Given the description of an element on the screen output the (x, y) to click on. 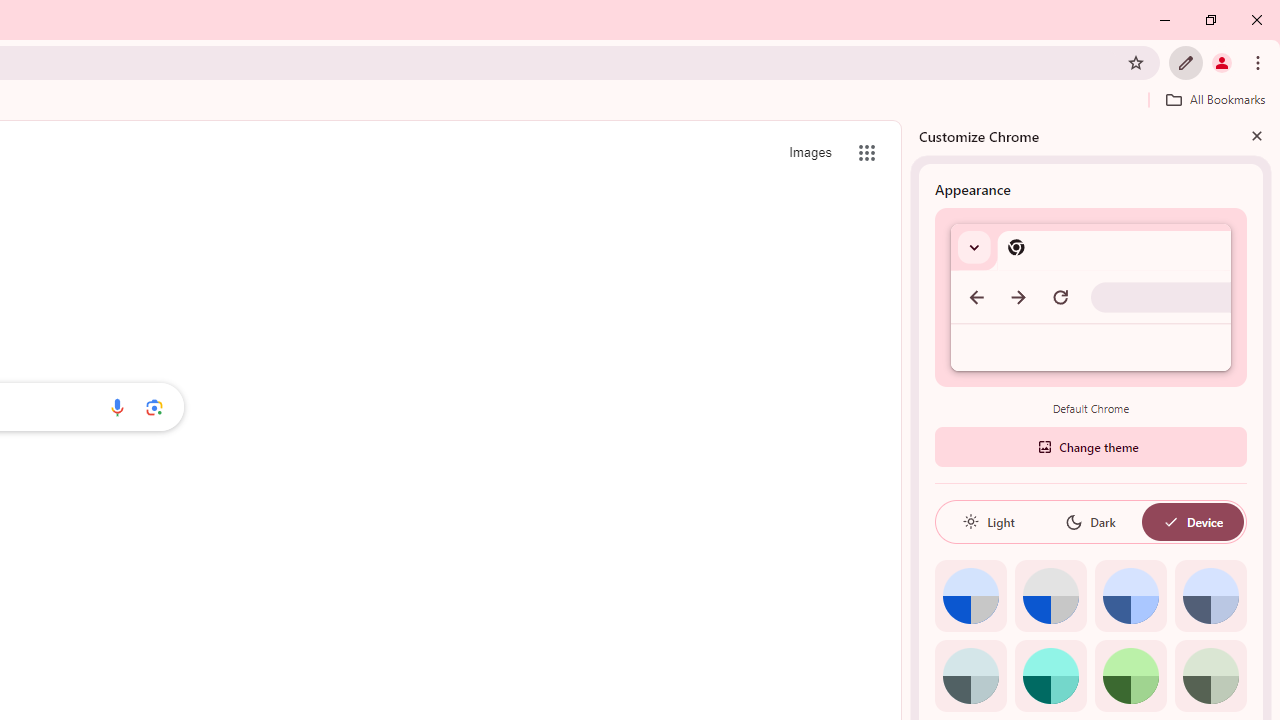
Green (1130, 676)
Dark (1090, 521)
Default Chrome (1091, 296)
Default color (970, 596)
Grey (970, 676)
Viridian (1210, 676)
